Given the description of an element on the screen output the (x, y) to click on. 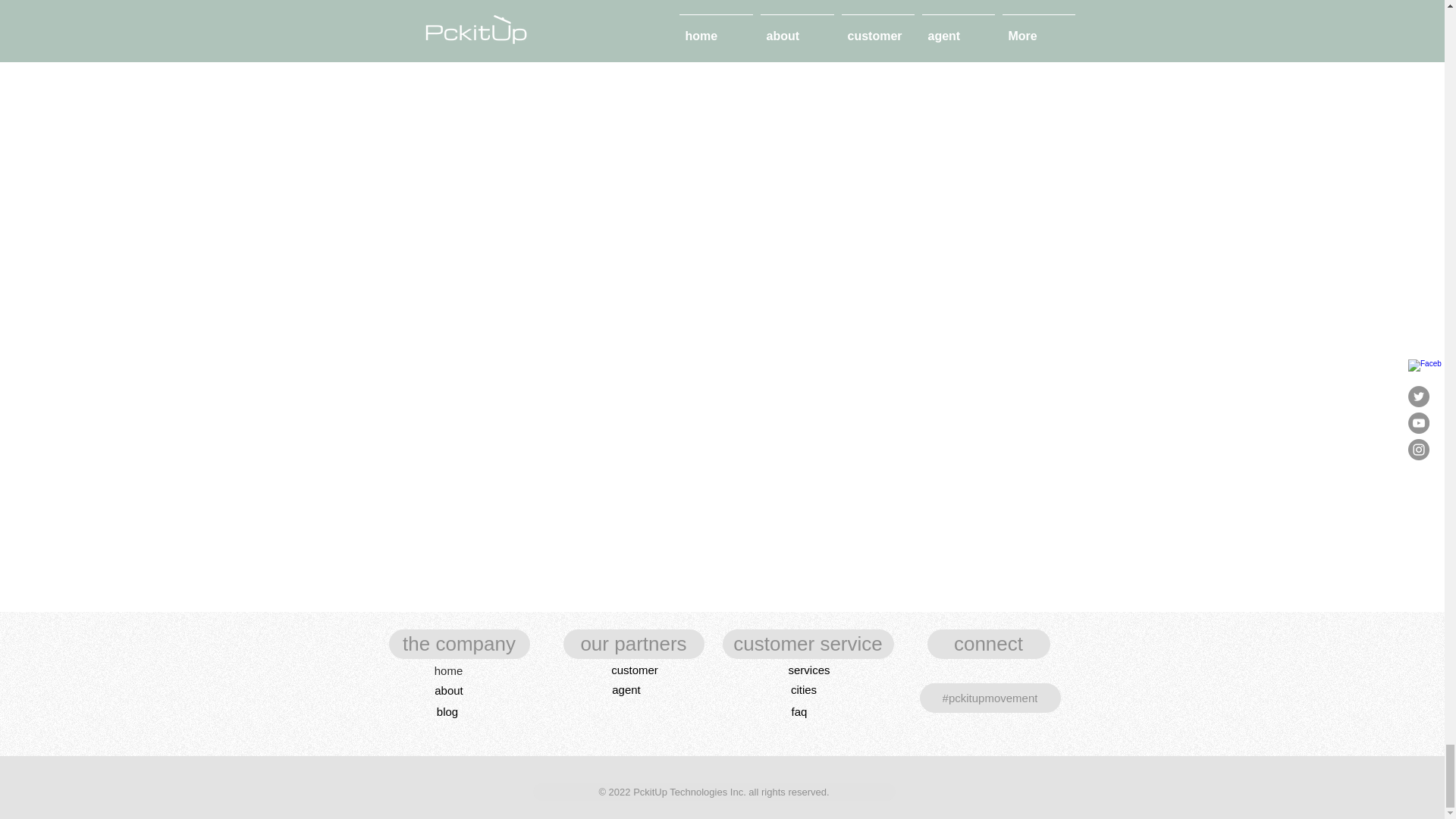
our partners (632, 644)
the company (458, 644)
about (448, 690)
home (448, 670)
connect (987, 644)
cities (803, 689)
services (809, 669)
faq (798, 711)
customer (634, 669)
agent (625, 689)
blog (446, 711)
customer service (807, 644)
